Given the description of an element on the screen output the (x, y) to click on. 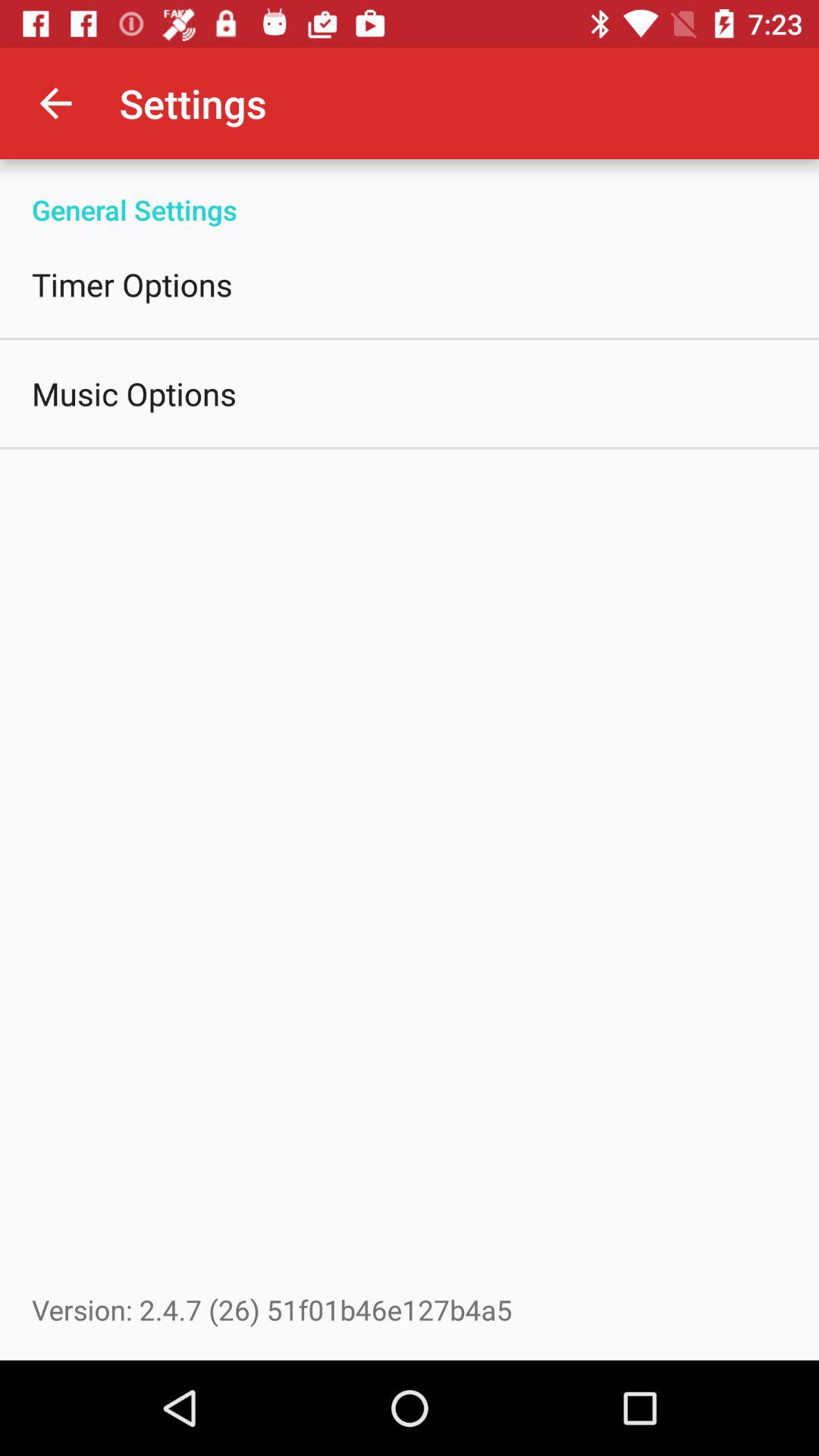
select the music options icon (133, 393)
